Given the description of an element on the screen output the (x, y) to click on. 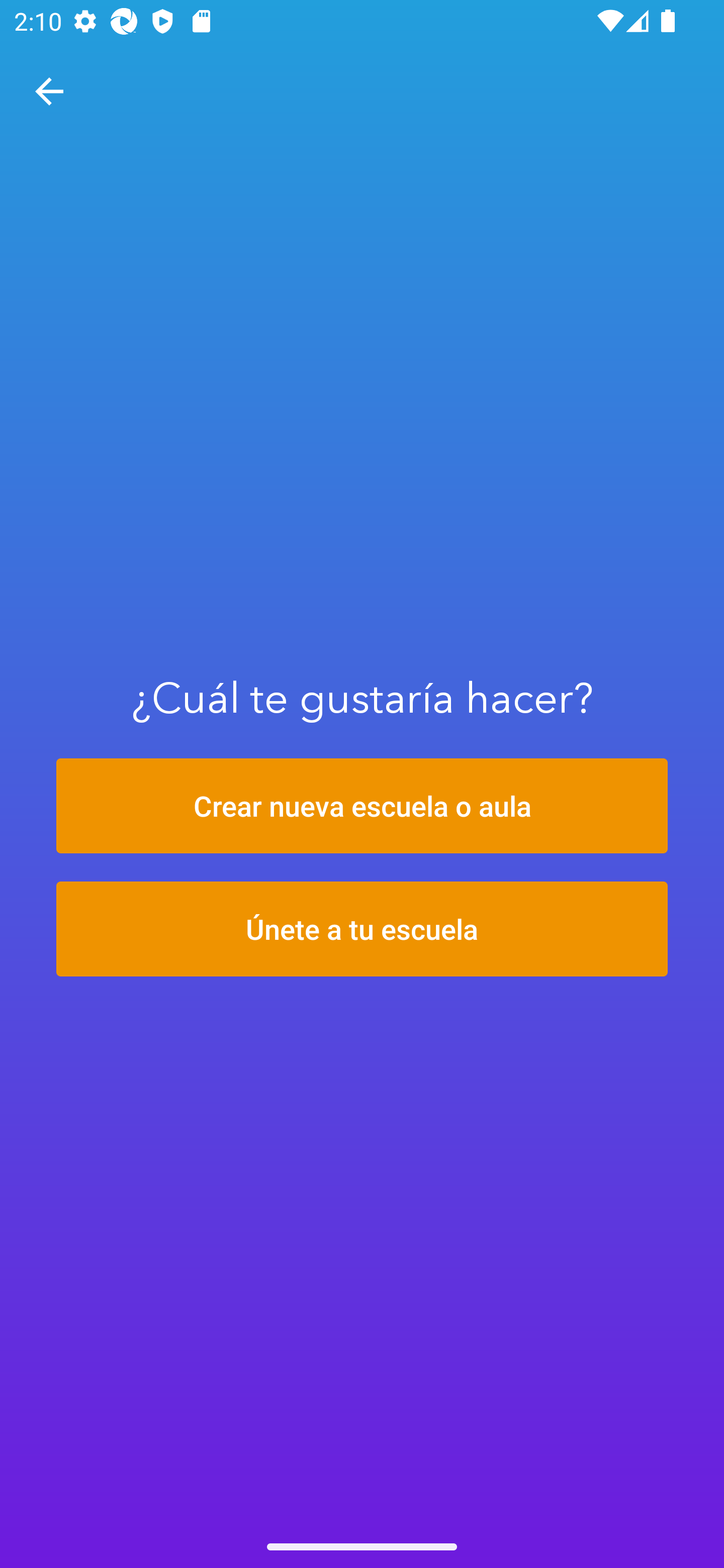
Navegar hacia arriba (49, 91)
Crear nueva escuela o aula (361, 805)
Únete a tu escuela (361, 928)
